Given the description of an element on the screen output the (x, y) to click on. 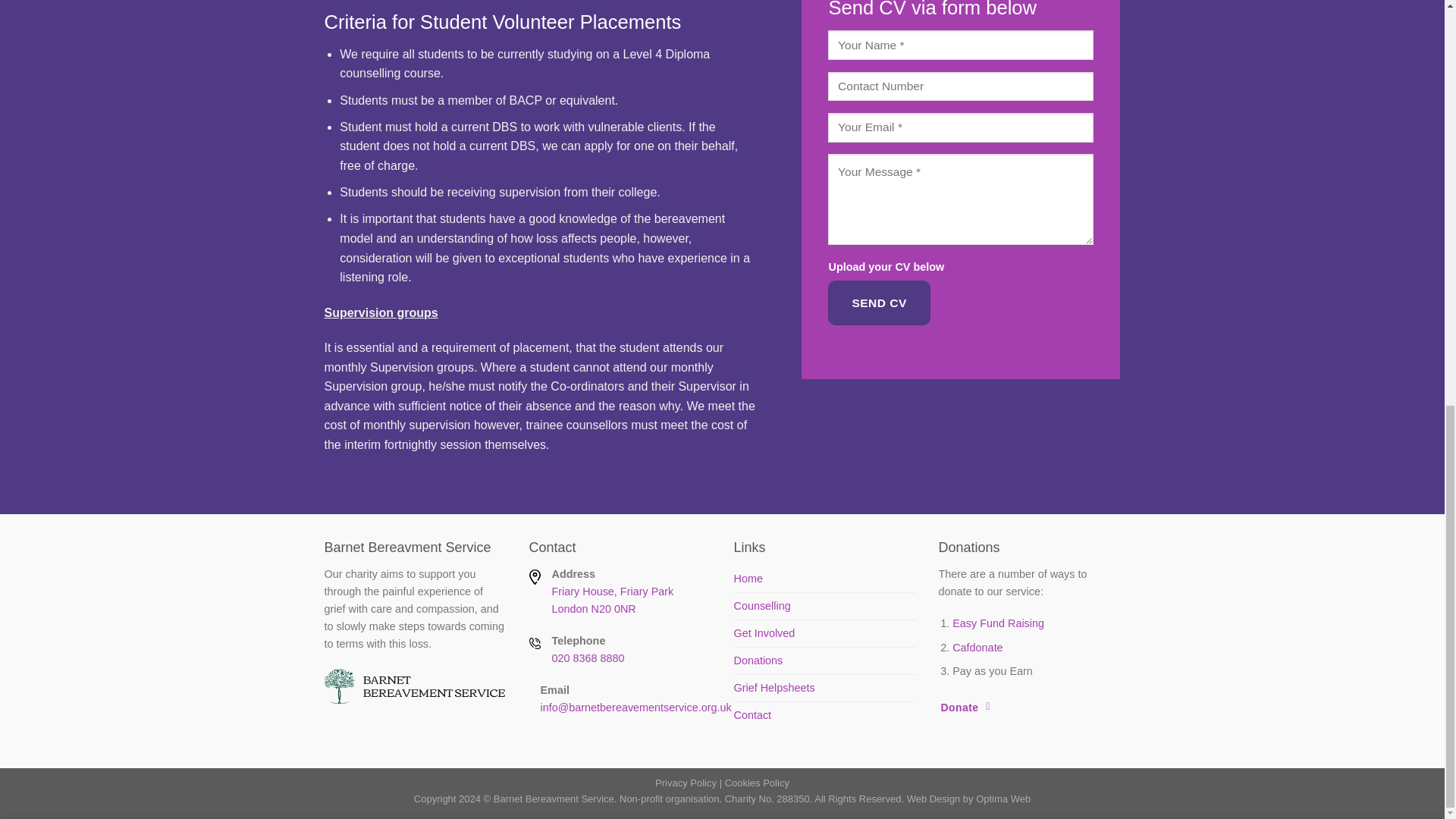
Cafdonate (612, 600)
Counselling (977, 647)
Web Design by Optima Web (761, 605)
Easy Fund Raising (968, 798)
Cookies Policy (997, 623)
Grief Helpsheets (757, 782)
020 8368 8880 (774, 687)
Privacy Policy (587, 657)
Send CV (685, 782)
